Given the description of an element on the screen output the (x, y) to click on. 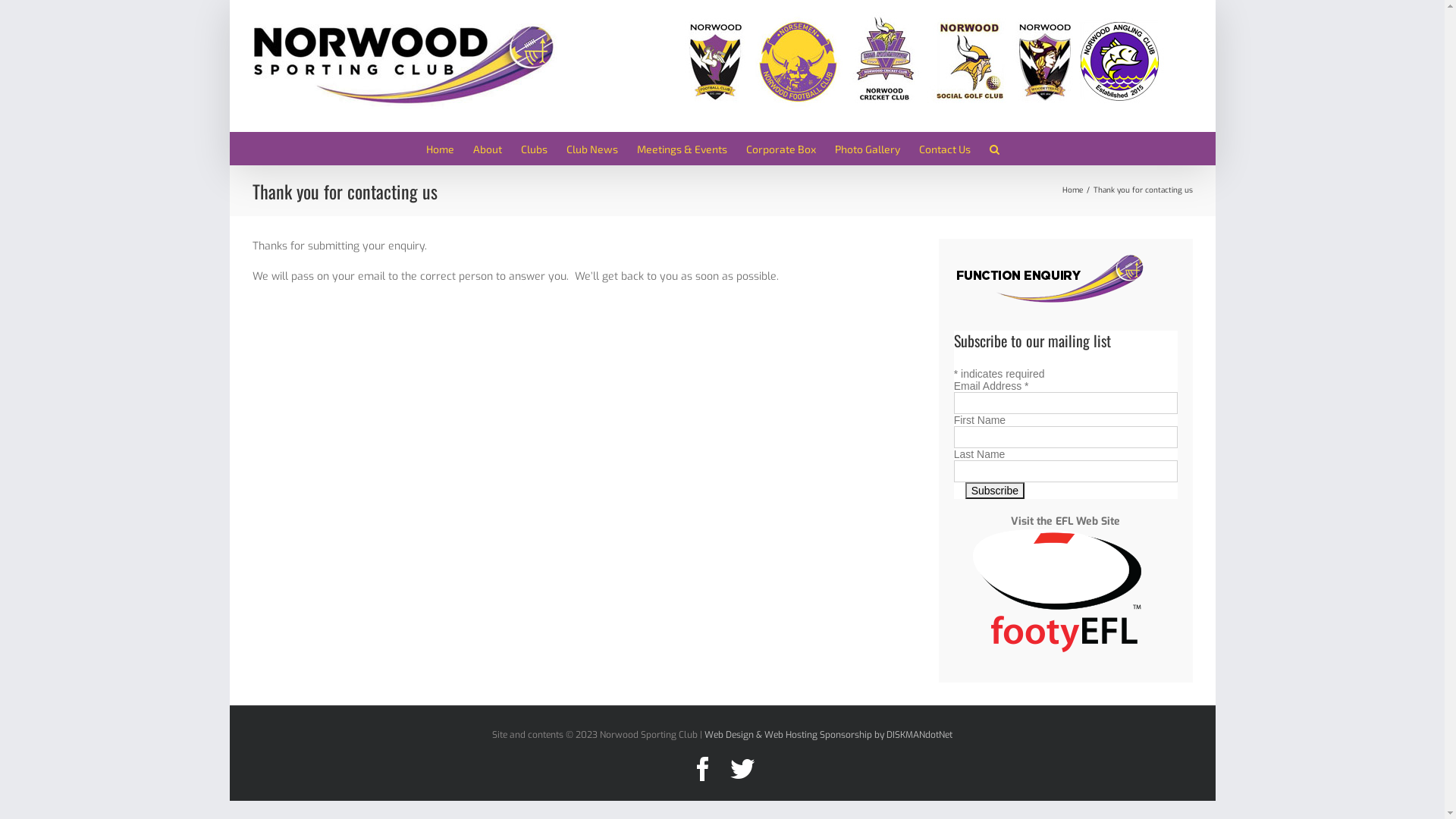
Club News Element type: text (591, 147)
Search Element type: hover (993, 147)
Corporate Box Element type: text (780, 147)
Photo Gallery Element type: text (866, 147)
Subscribe Element type: text (994, 490)
Facebook Element type: text (702, 768)
Web Design & Web Hosting Sponsorship by DISKMANdotNet Element type: text (828, 734)
Twitter Element type: text (741, 768)
About Element type: text (487, 147)
Home Element type: text (1071, 189)
Contact Us Element type: text (944, 147)
Home Element type: text (440, 147)
Clubs Element type: text (533, 147)
Meetings & Events Element type: text (682, 147)
